Given the description of an element on the screen output the (x, y) to click on. 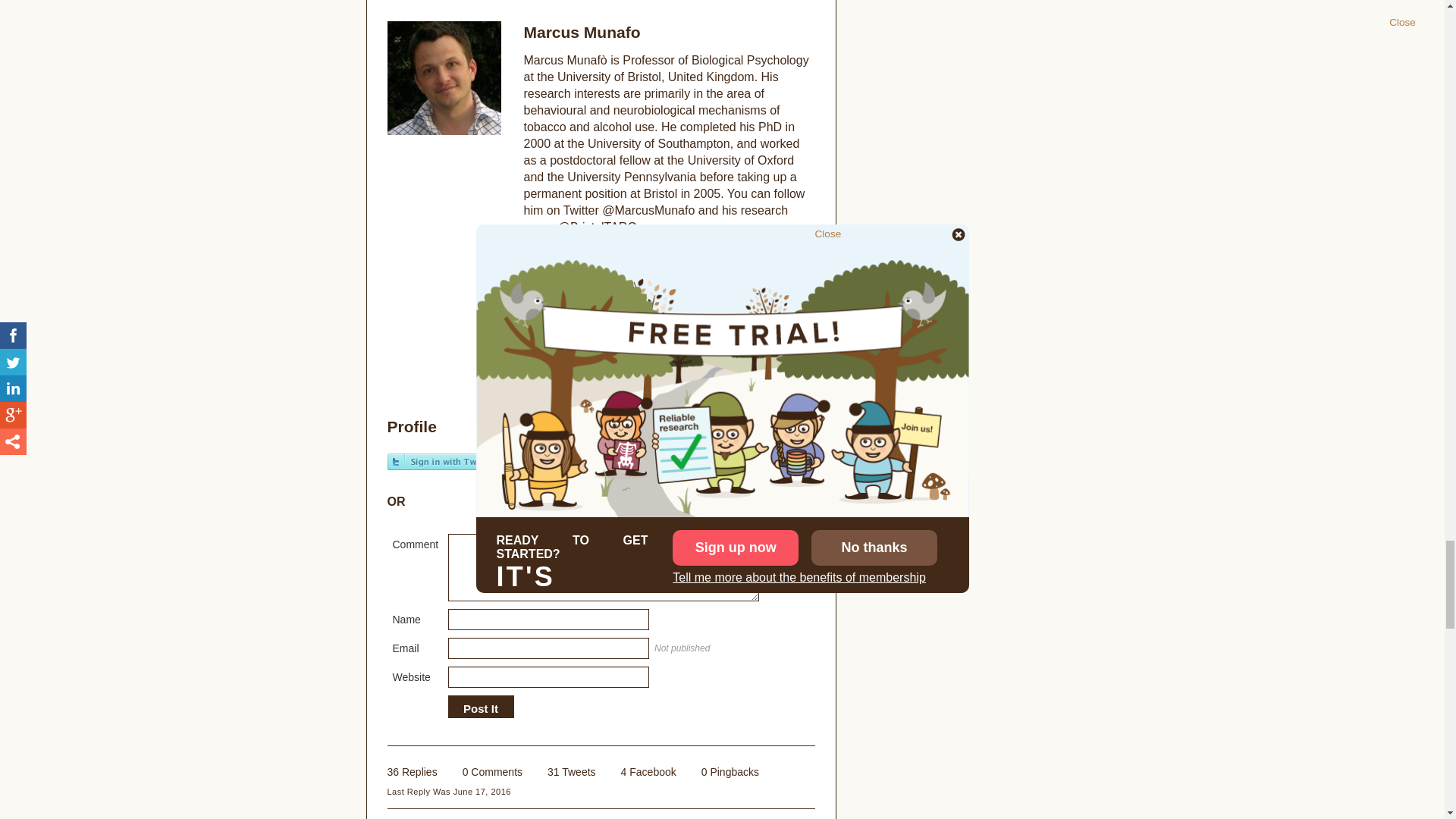
Marcus Munafo (581, 31)
Twitter (531, 302)
Marcus Munafo (544, 252)
Post It (479, 708)
